Given the description of an element on the screen output the (x, y) to click on. 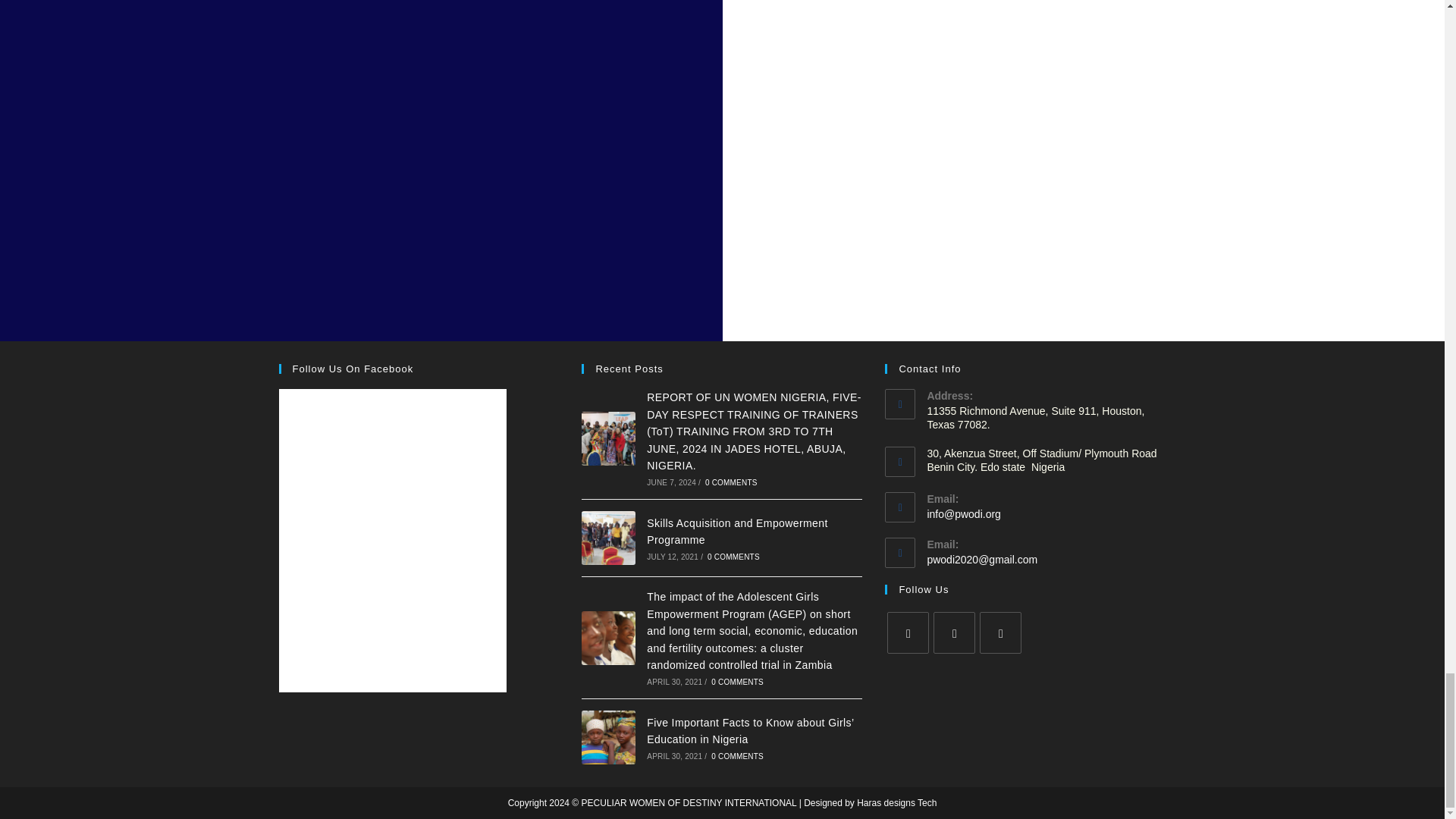
0 COMMENTS (733, 556)
Skills Acquisition and Empowerment Programme (607, 538)
0 COMMENTS (736, 682)
0 COMMENTS (736, 756)
Skills Acquisition and Empowerment Programme (736, 531)
0 COMMENTS (730, 482)
Follow Us On Facebook (352, 368)
